Given the description of an element on the screen output the (x, y) to click on. 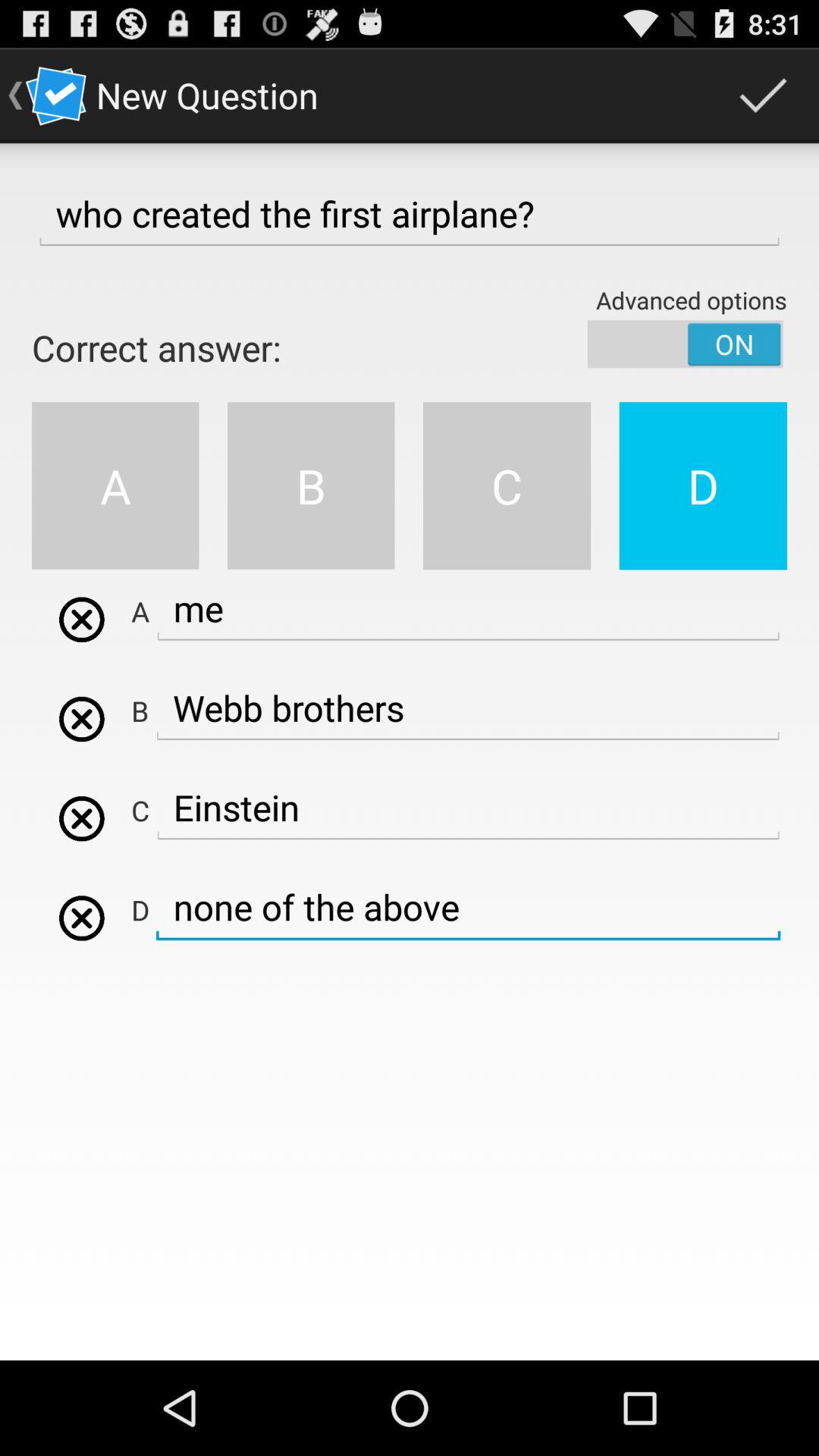
off it (685, 343)
